Given the description of an element on the screen output the (x, y) to click on. 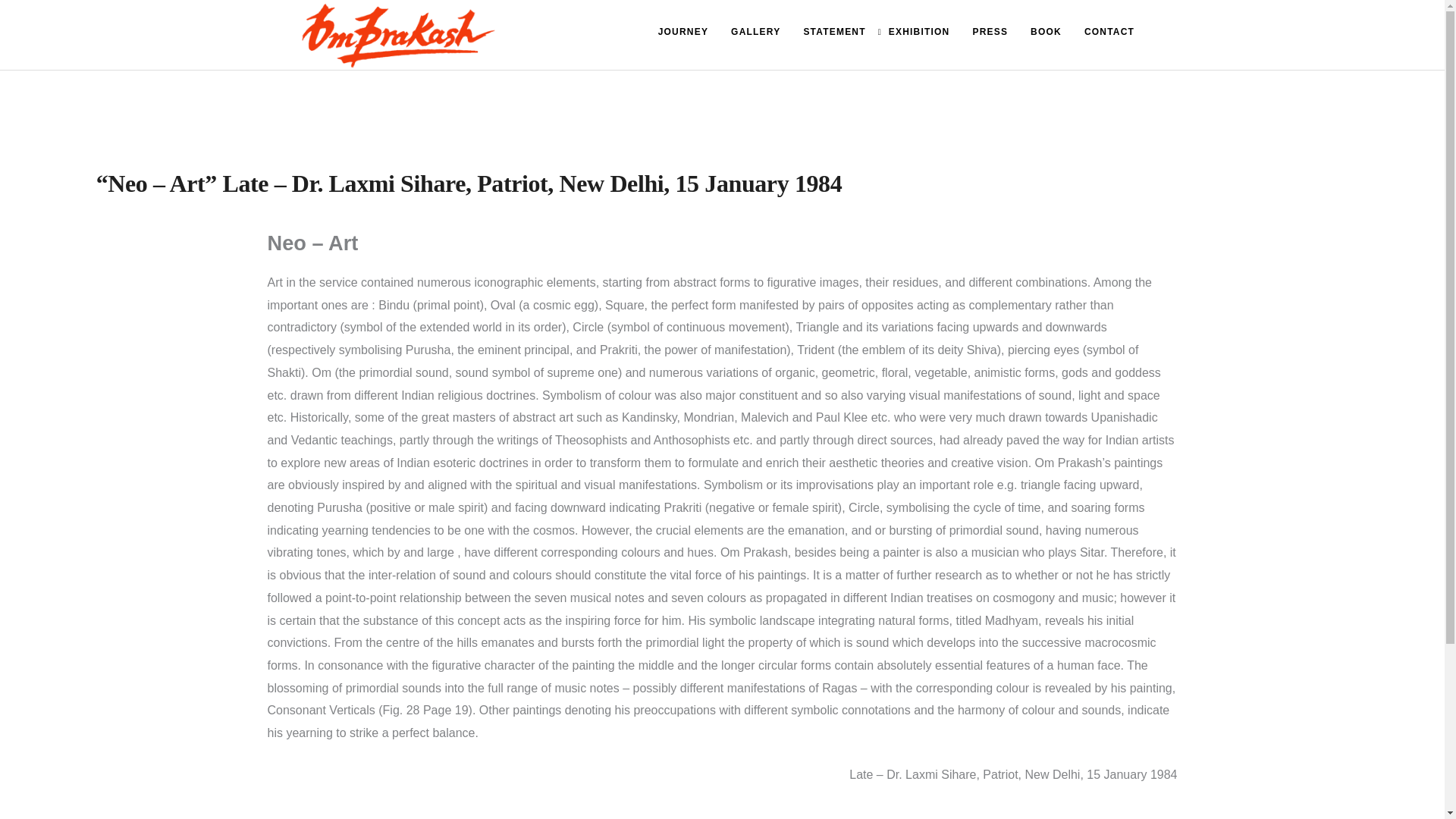
GALLERY (755, 31)
PRESS (989, 31)
STATEMENT (834, 31)
CONTACT (1109, 31)
JOURNEY (682, 31)
EXHIBITION (918, 31)
